Given the description of an element on the screen output the (x, y) to click on. 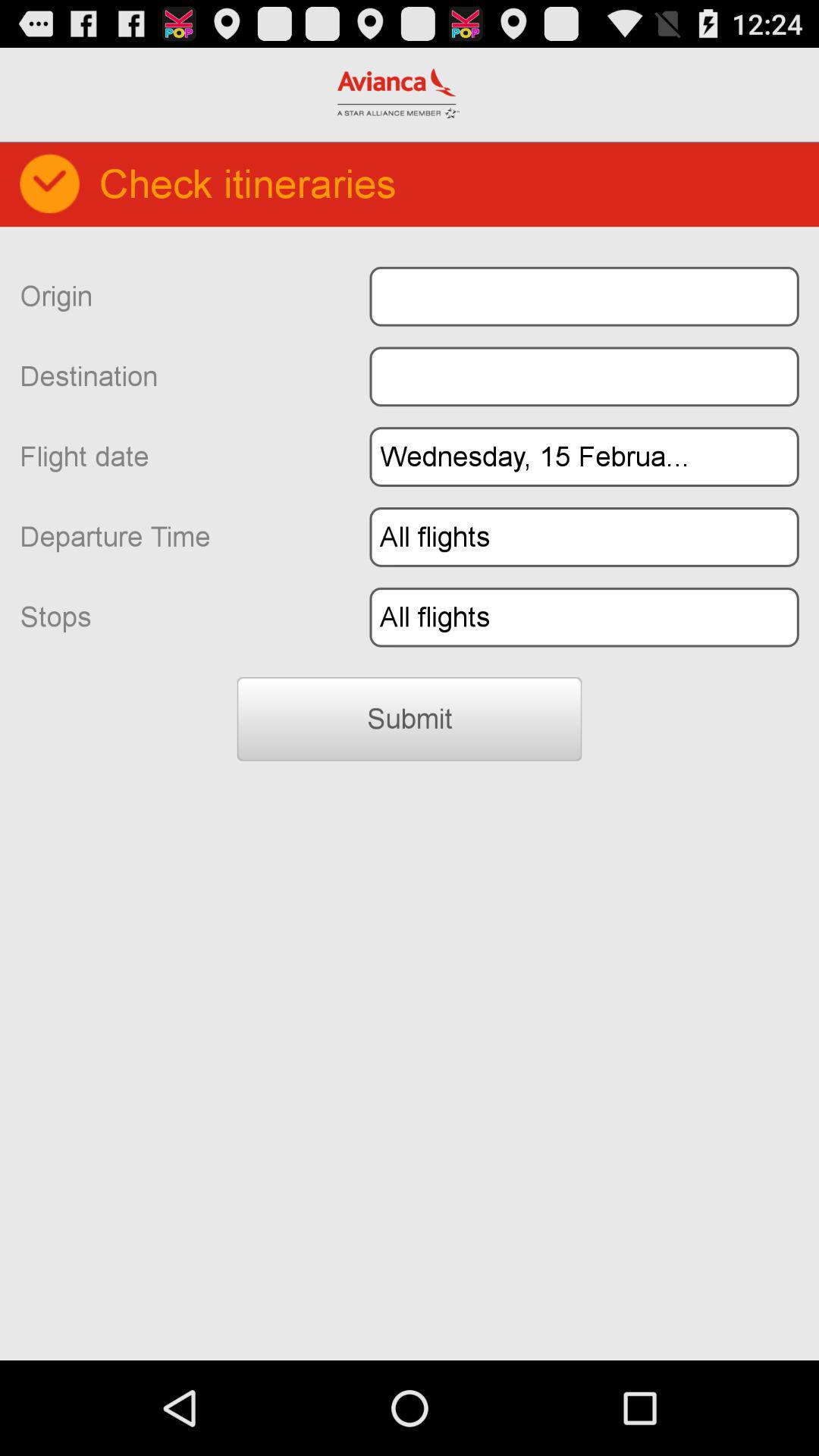
destination input (584, 376)
